Given the description of an element on the screen output the (x, y) to click on. 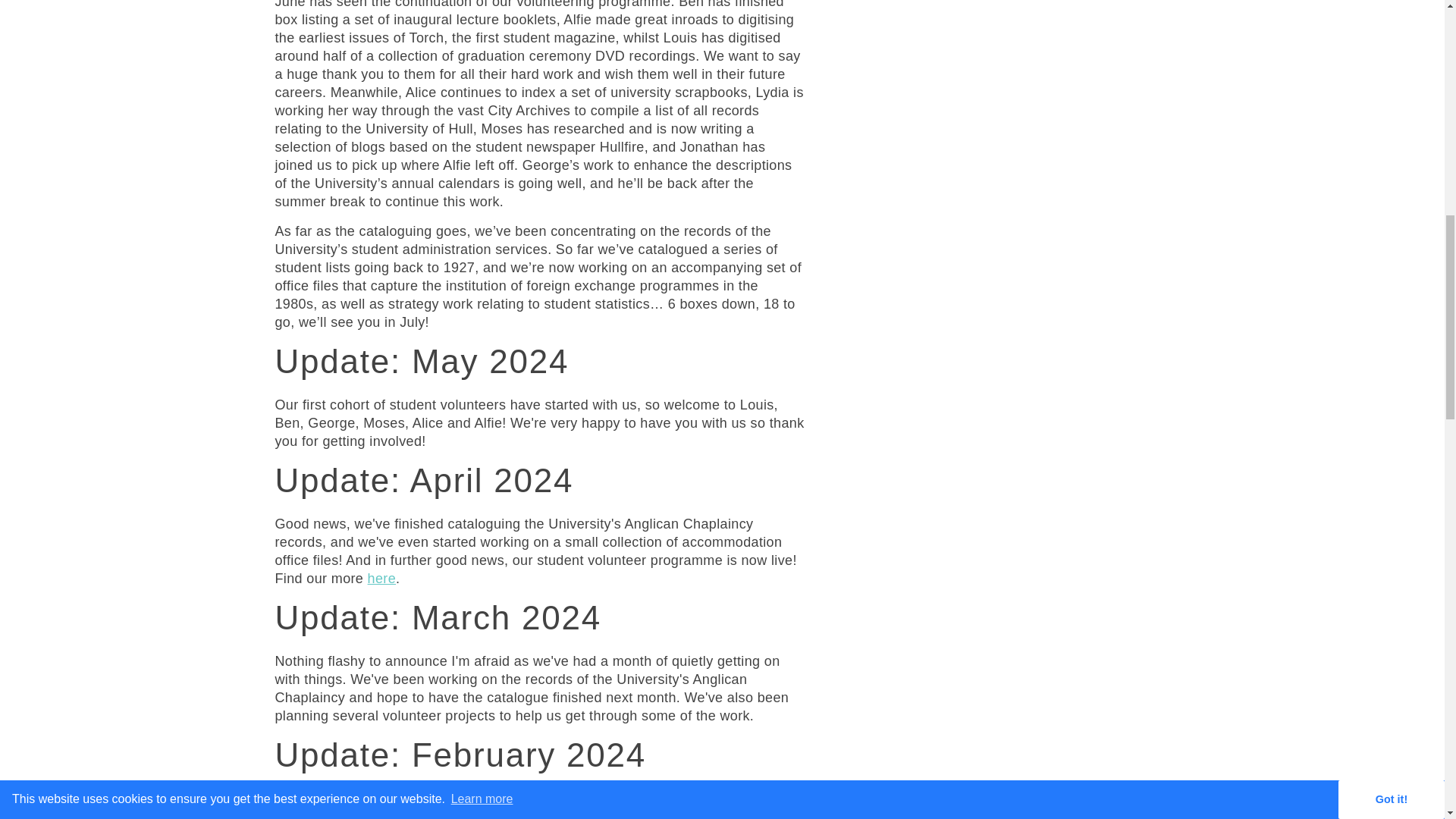
Volunteer Projects (382, 578)
